Given the description of an element on the screen output the (x, y) to click on. 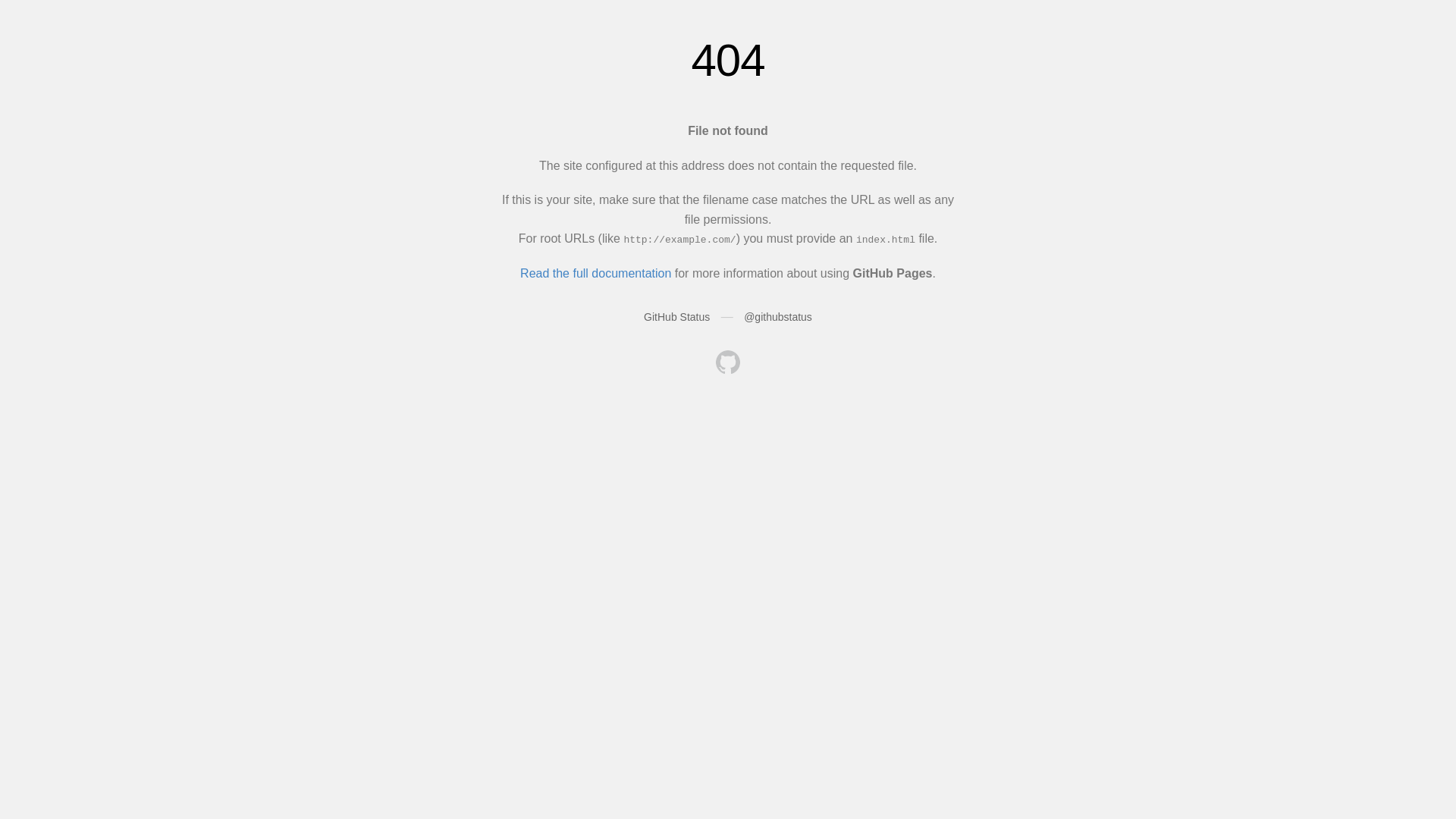
Read the full documentation Element type: text (595, 272)
GitHub Status Element type: text (676, 316)
@githubstatus Element type: text (777, 316)
